Given the description of an element on the screen output the (x, y) to click on. 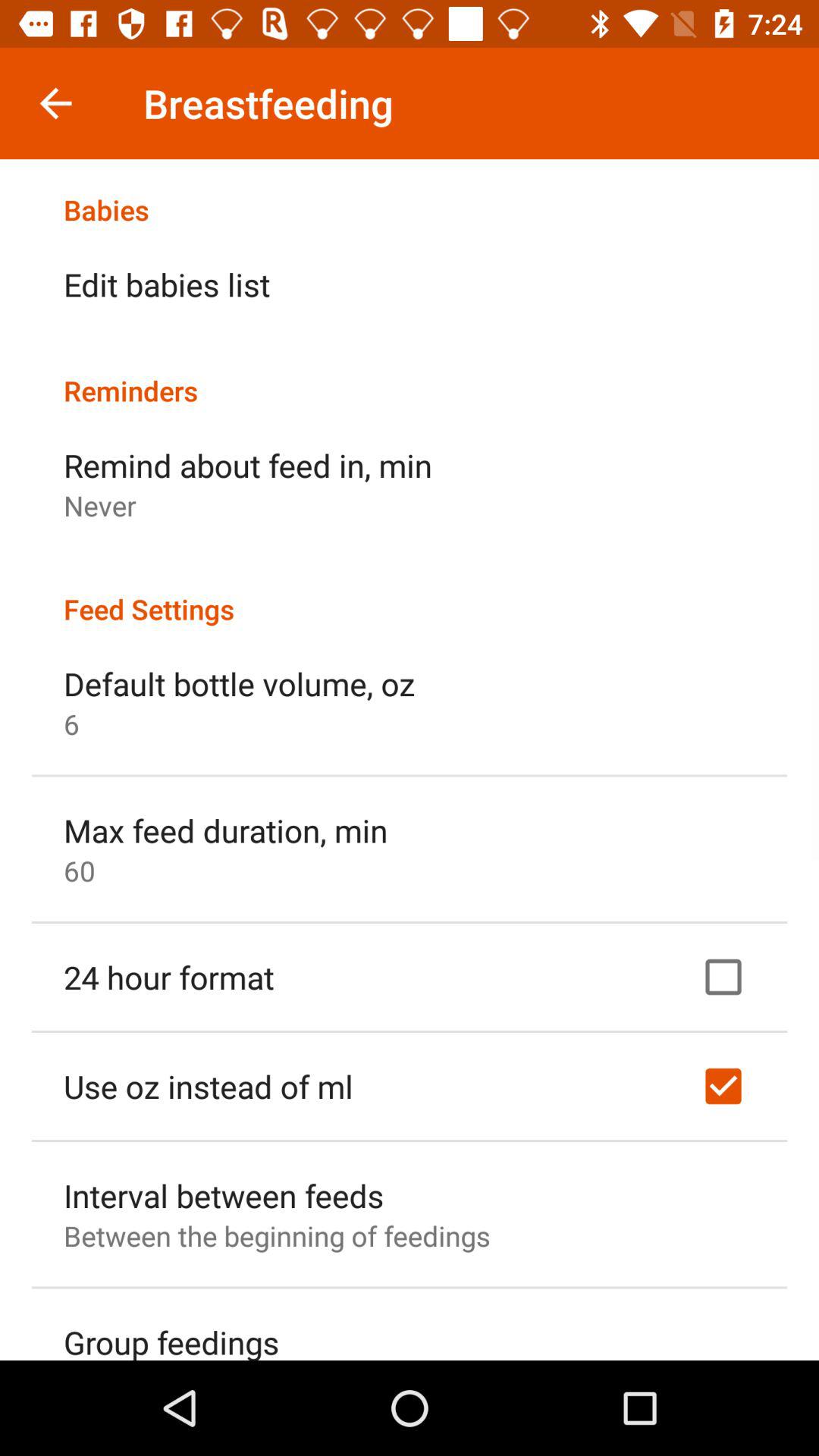
open the feed settings item (409, 592)
